Given the description of an element on the screen output the (x, y) to click on. 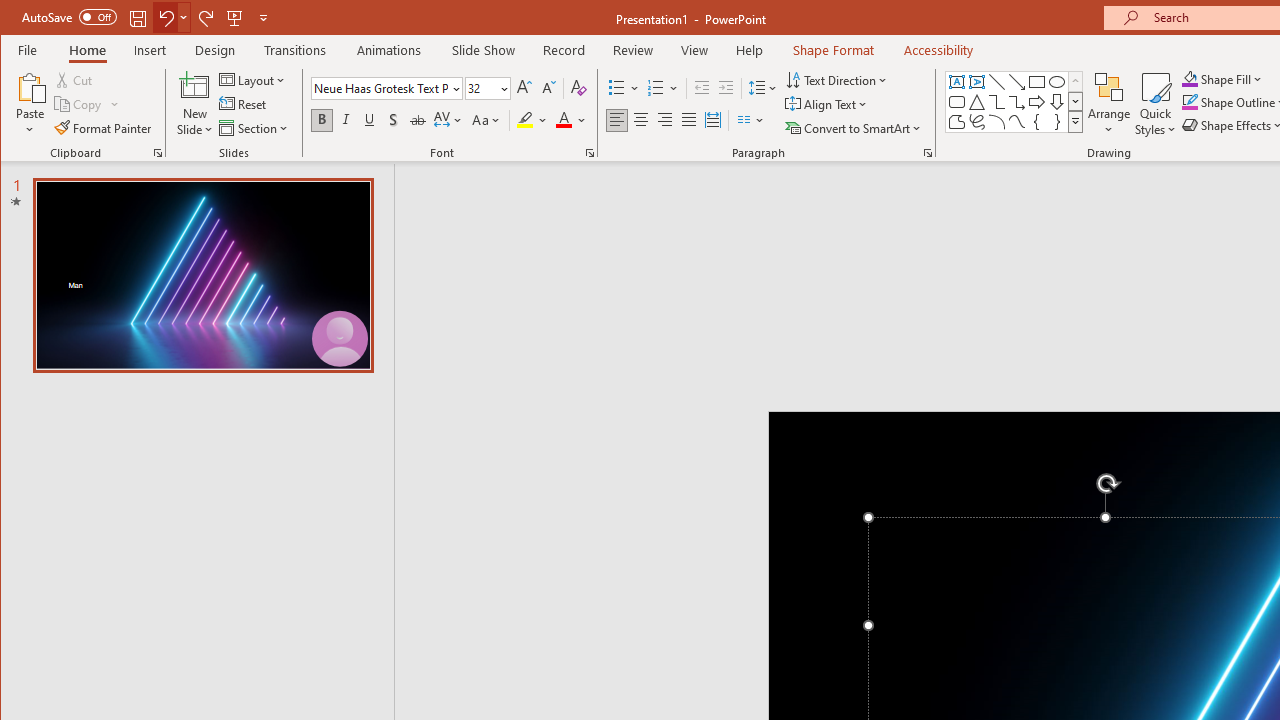
Bullets (623, 88)
Connector: Elbow (996, 102)
Shape Outline Blue, Accent 1 (1189, 101)
Text Direction (837, 80)
Vertical Text Box (976, 82)
Quick Styles (1155, 104)
Arc (996, 121)
Paste (29, 104)
Cut (74, 80)
Line Arrow (1016, 82)
Shape Fill (1222, 78)
Decrease Font Size (548, 88)
